Given the description of an element on the screen output the (x, y) to click on. 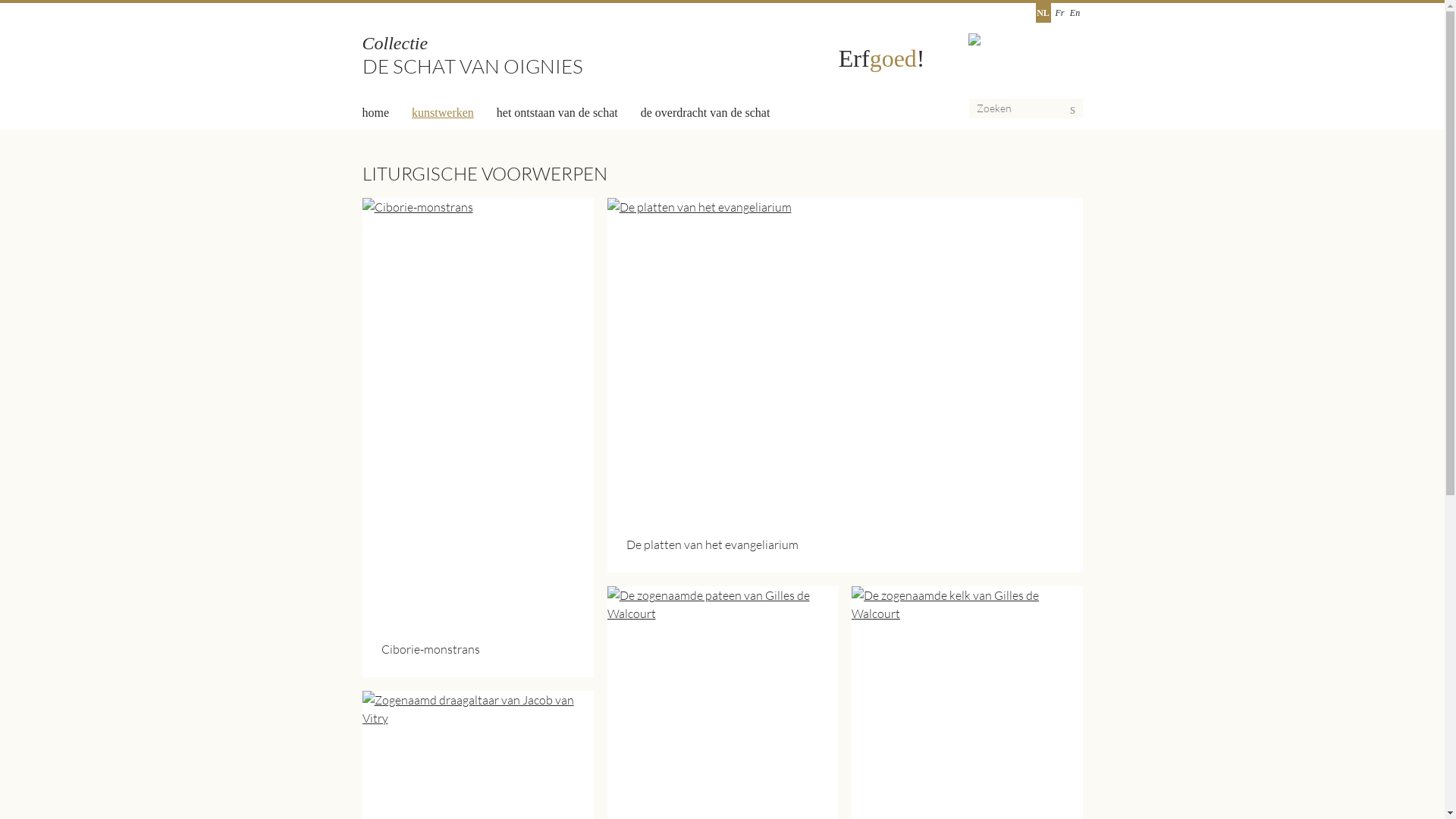
Zoeken Element type: text (1094, 111)
kunstwerken Element type: text (442, 112)
Collectie Element type: text (395, 43)
NL Element type: text (1043, 12)
het ontstaan van de schat Element type: text (557, 112)
Overslaan en naar de algemene inhoud gaan Element type: text (26, 0)
DE SCHAT VAN OIGNIES Element type: text (472, 65)
en Element type: text (1074, 12)
Geef de woorden op waarnaar u wilt zoeken. Element type: hover (1025, 108)
home Element type: text (375, 112)
de overdracht van de schat Element type: text (705, 112)
Ciborie-monstrans Element type: text (477, 649)
De platten van het evangeliarium Element type: text (844, 544)
ErfGoed!
(Link Is External) Element type: text (886, 58)
fr Element type: text (1059, 12)
Skip to navigation Element type: text (27, 0)
